Given the description of an element on the screen output the (x, y) to click on. 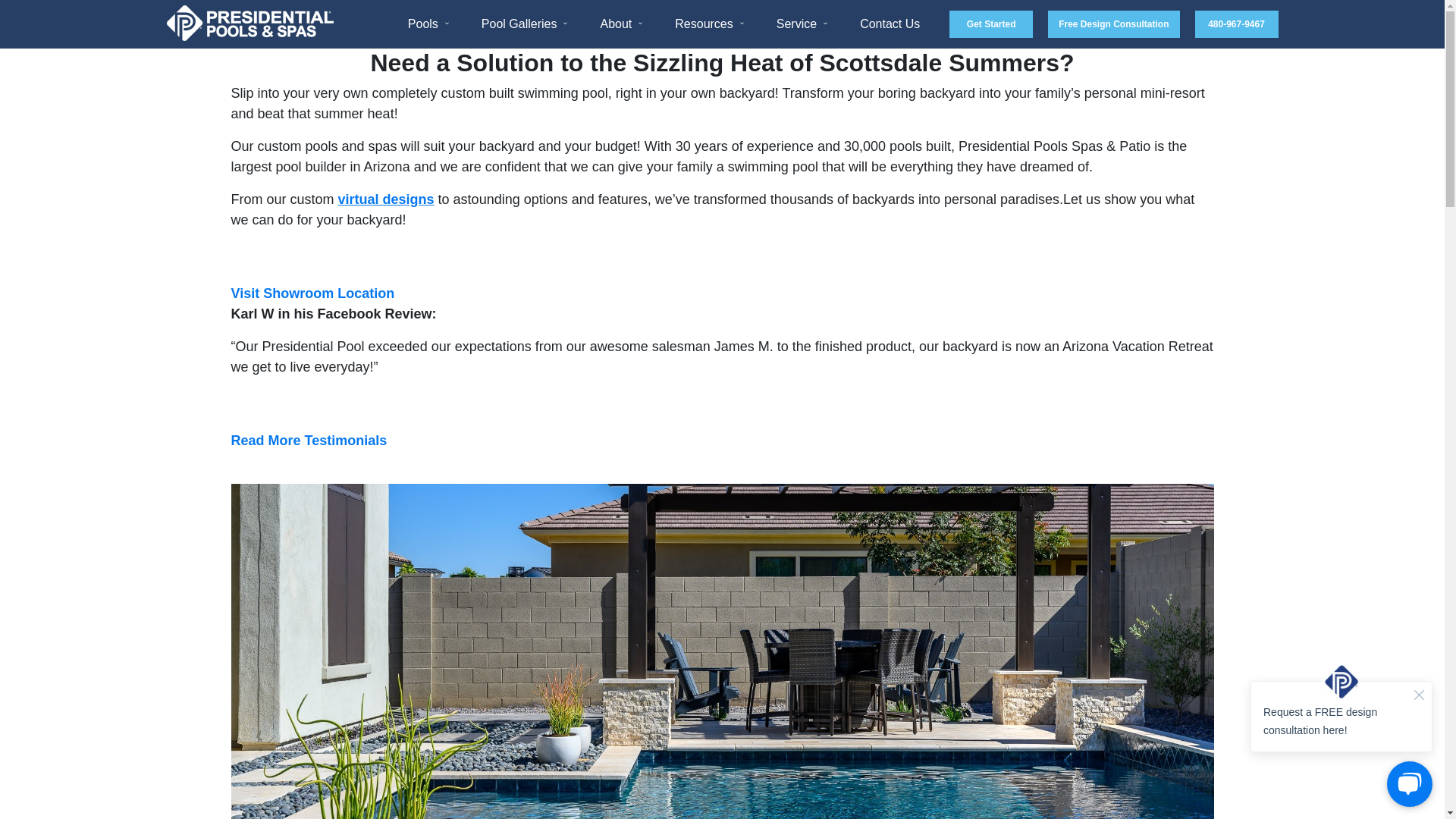
YouTube (1417, 792)
Pool Galleries (522, 24)
Instagram (1324, 792)
Yelp (1230, 792)
About (618, 24)
Resources (706, 24)
Facebook (1136, 792)
Service (799, 24)
Pools (426, 24)
